Given the description of an element on the screen output the (x, y) to click on. 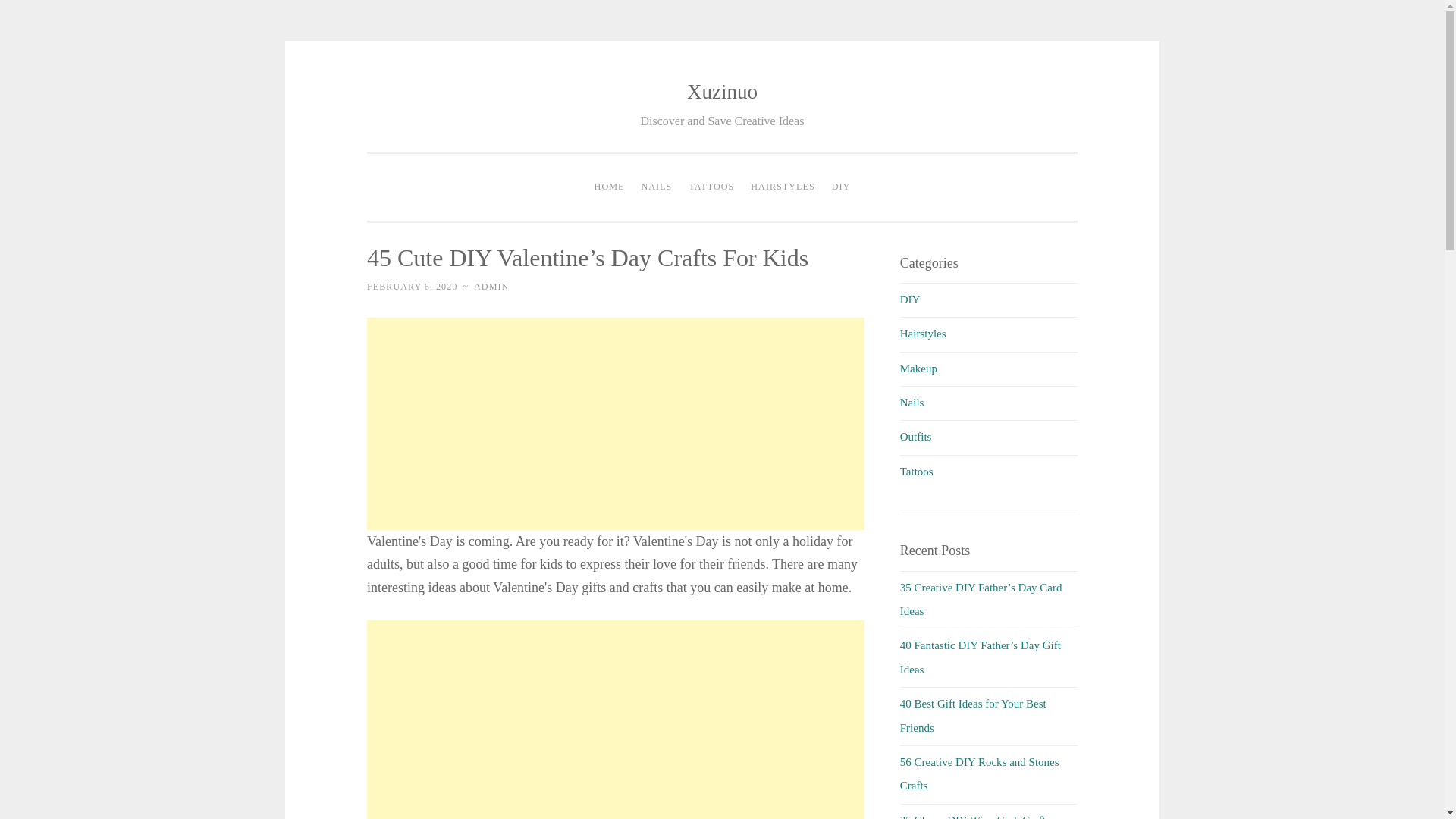
DIY (841, 186)
Xuzinuo (722, 91)
56 Creative DIY Rocks and Stones Crafts (979, 773)
Skip to content (400, 91)
nails (911, 402)
FEBRUARY 6, 2020 (411, 286)
ADMIN (491, 286)
HAIRSTYLES (782, 186)
TATTOOS (711, 186)
NAILS (655, 186)
HOME (609, 186)
35 Clever DIY Wine Cork Crafts Projects (974, 816)
40 Best Gift Ideas for Your Best Friends (972, 715)
